Given the description of an element on the screen output the (x, y) to click on. 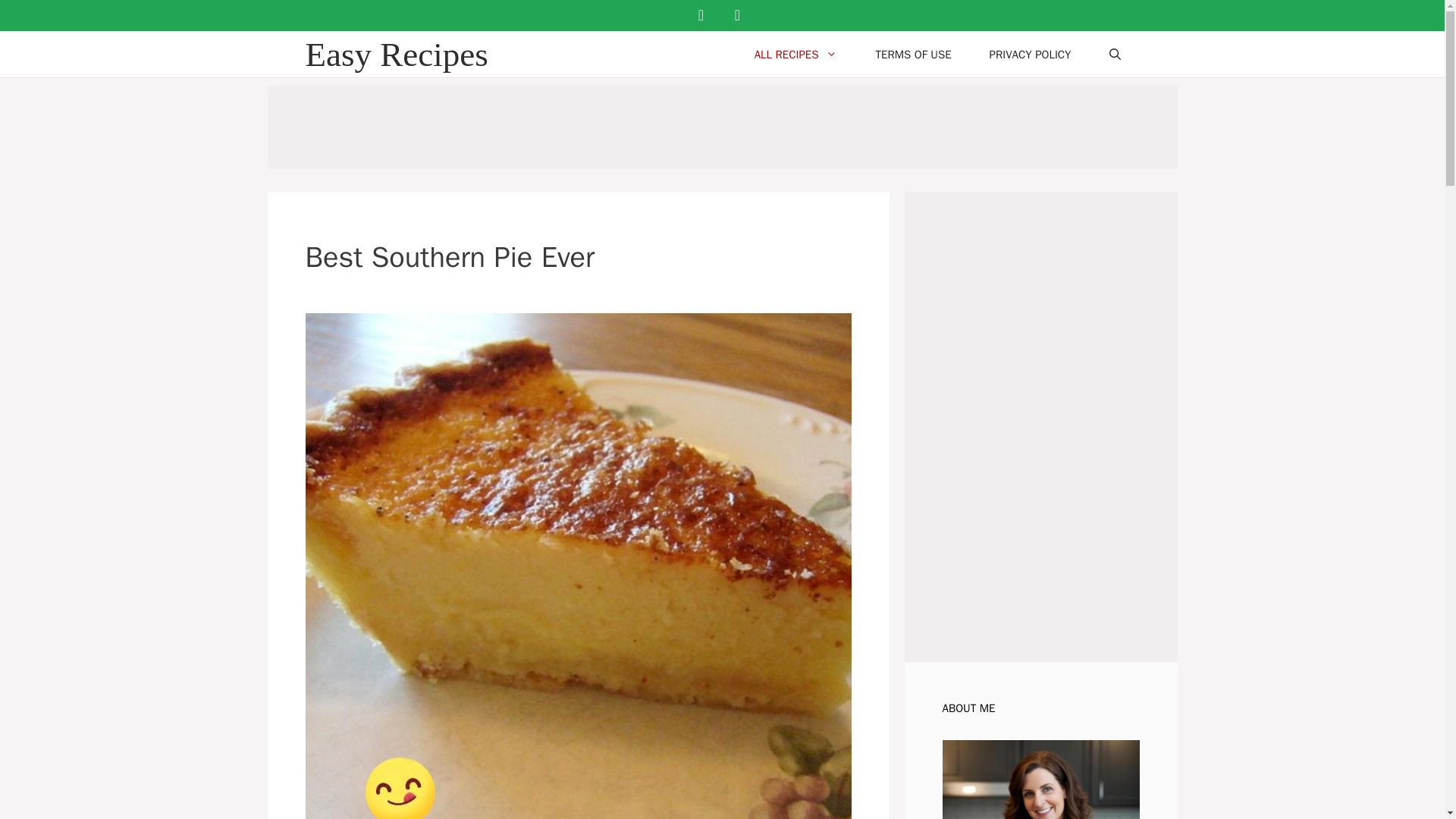
Easy Recipes (395, 53)
Facebook (700, 15)
PRIVACY POLICY (1030, 53)
TERMS OF USE (912, 53)
Pinterest (737, 15)
ALL RECIPES (796, 53)
